Given the description of an element on the screen output the (x, y) to click on. 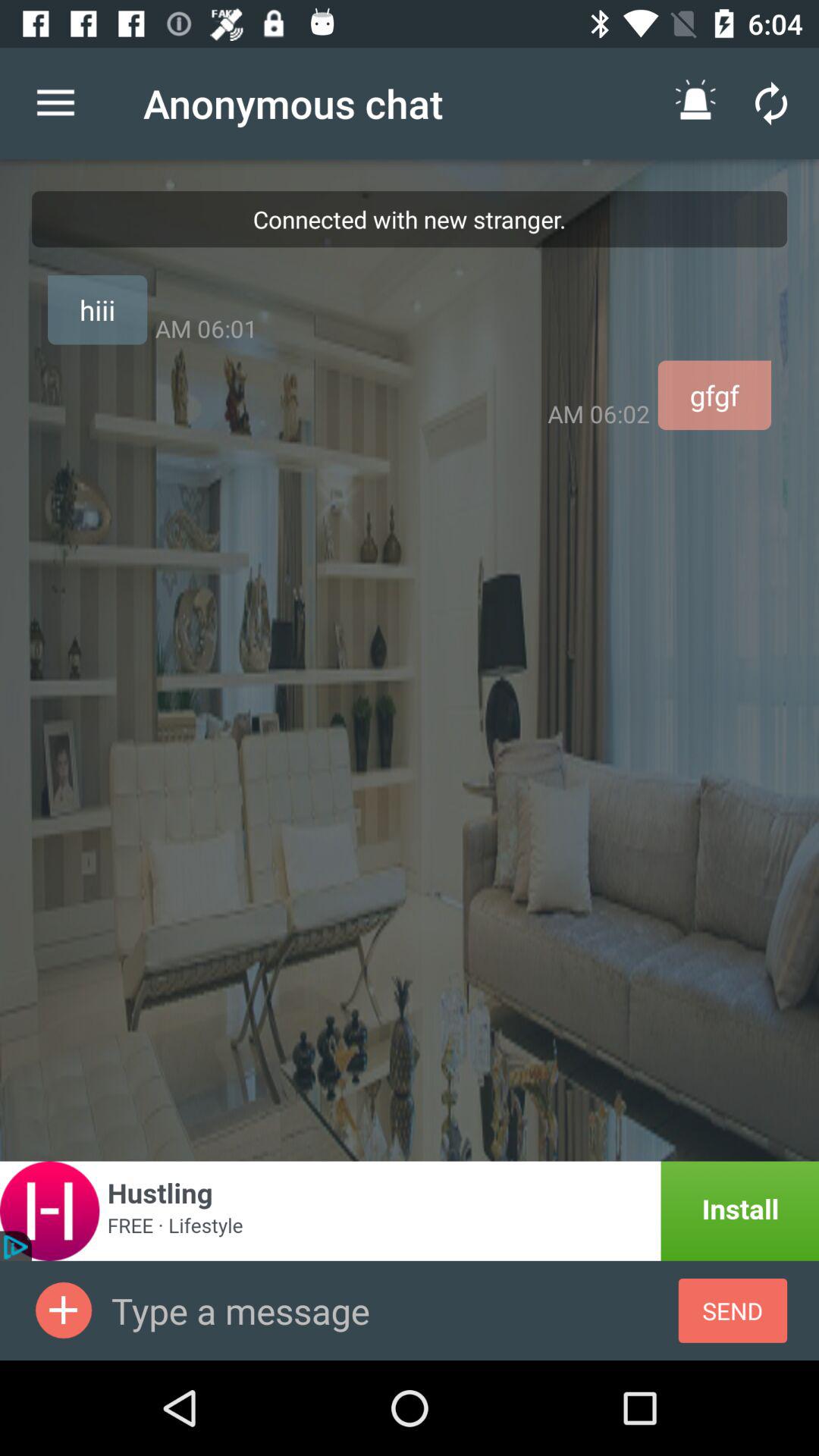
type in a message (394, 1310)
